Given the description of an element on the screen output the (x, y) to click on. 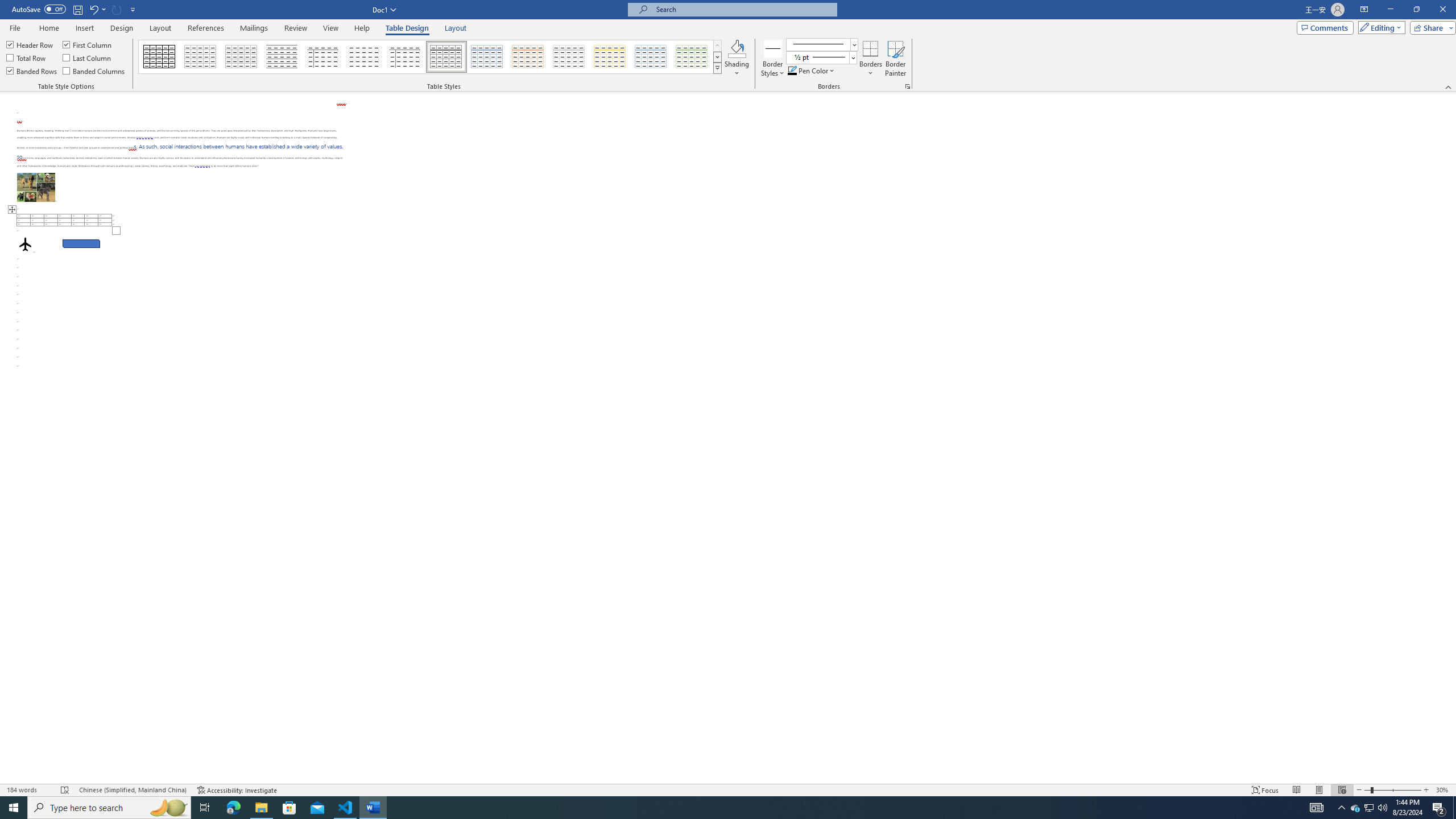
Microsoft search (742, 9)
Web Layout (1342, 790)
Plain Table 3 (322, 56)
Layout (455, 28)
Comments (1325, 27)
Mailings (253, 28)
References (205, 28)
Morphological variation in six dogs (36, 187)
Pen Style (821, 44)
Border Styles (773, 48)
Pen Weight (821, 56)
Share (1430, 27)
Banded Rows (32, 69)
